Given the description of an element on the screen output the (x, y) to click on. 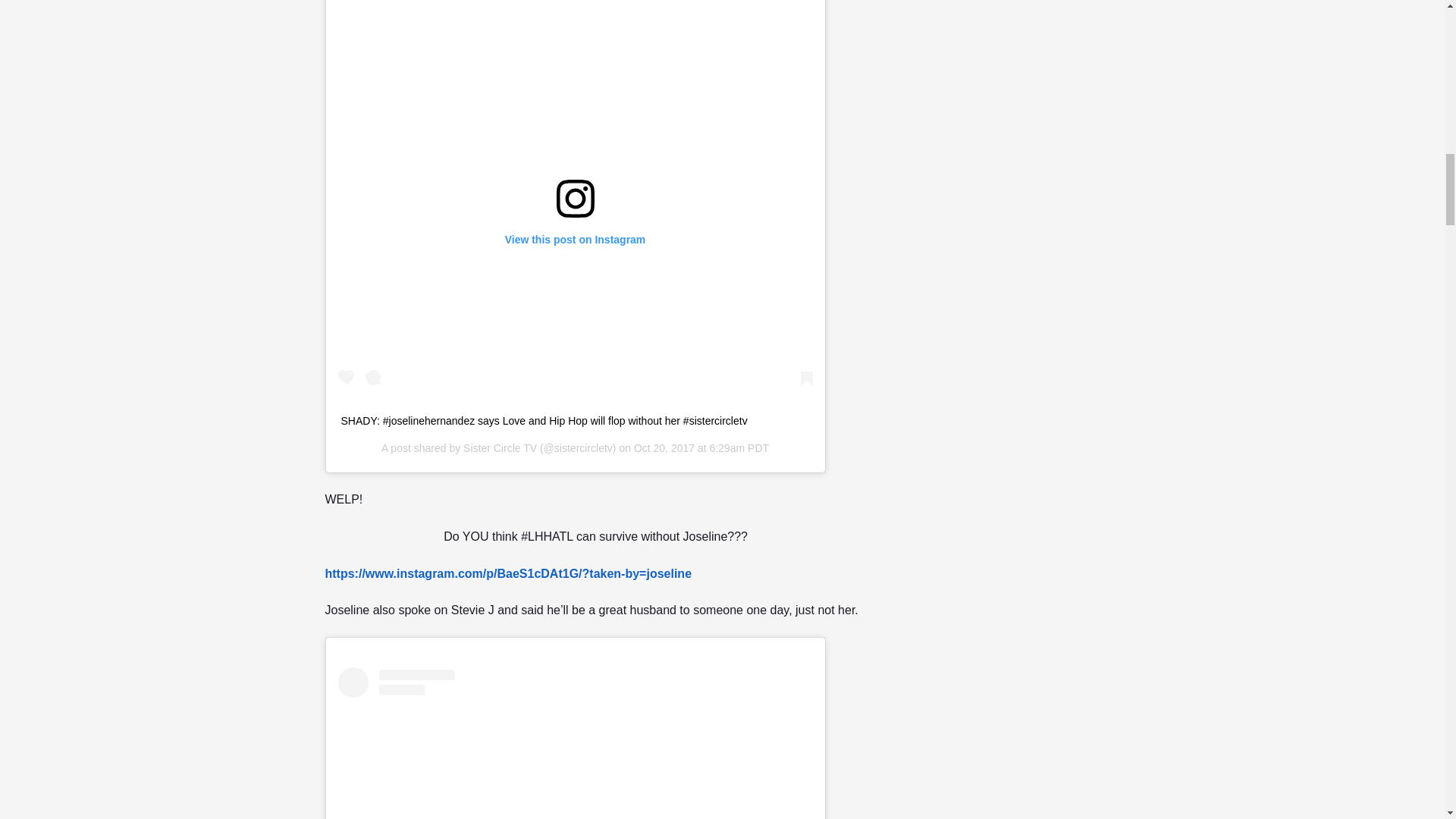
Sister Circle TV (500, 448)
View this post on Instagram (574, 743)
